Given the description of an element on the screen output the (x, y) to click on. 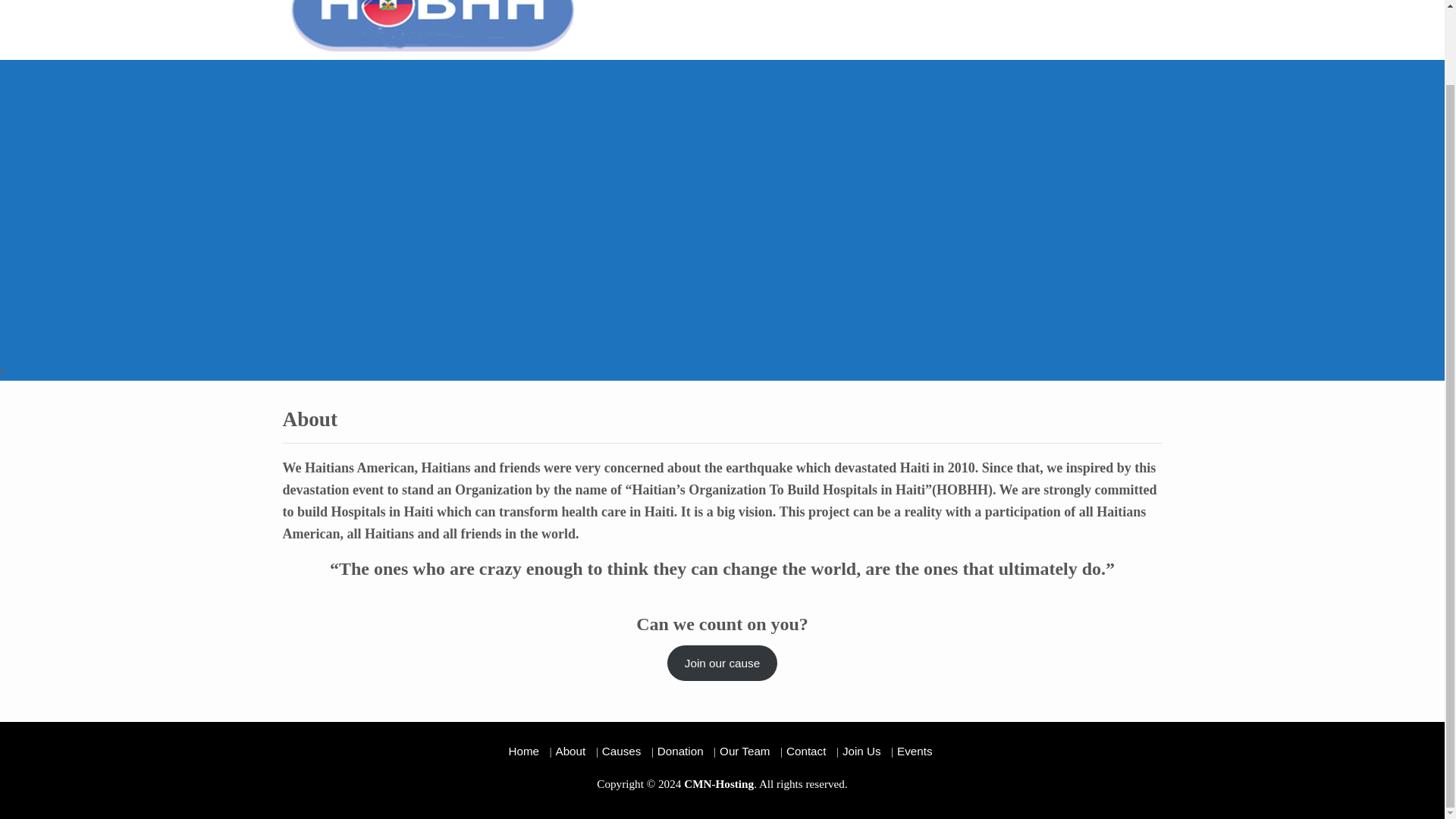
About (817, 4)
Contact (1023, 4)
Our Team (969, 4)
Join Us (1071, 4)
Our Team (744, 750)
Donation (680, 750)
Home (776, 4)
Events (1118, 4)
Contact (805, 750)
Join Us (861, 750)
